Given the description of an element on the screen output the (x, y) to click on. 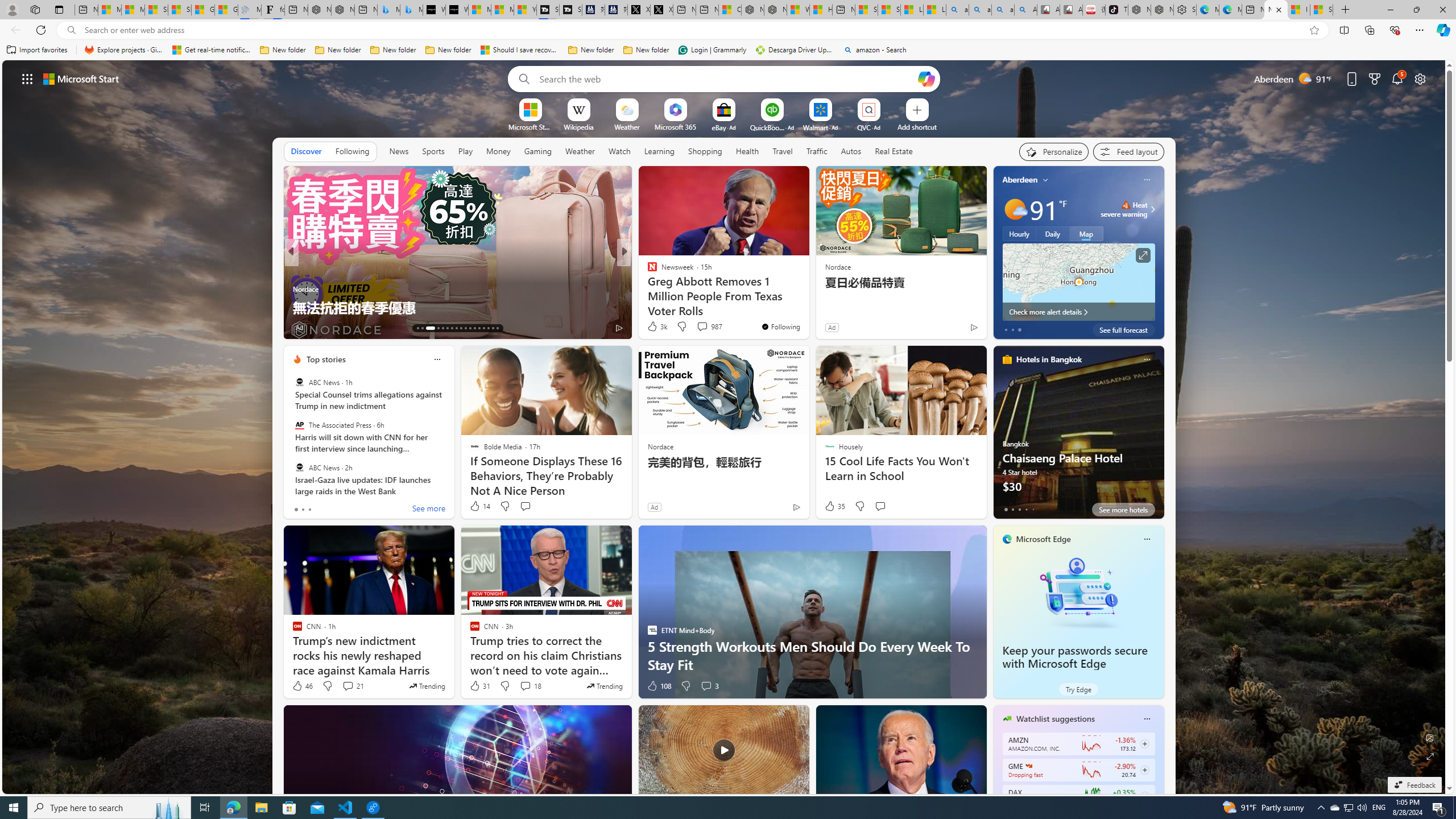
Learning (658, 151)
POLITICO (647, 270)
AutomationID: tab-13 (417, 328)
View comments 52 Comment (698, 327)
YourTango: Revolutionizing Relationships (296, 270)
Nordace Siena Pro 15 Backpack (1161, 9)
This story is trending (604, 685)
Health (746, 151)
